Given the description of an element on the screen output the (x, y) to click on. 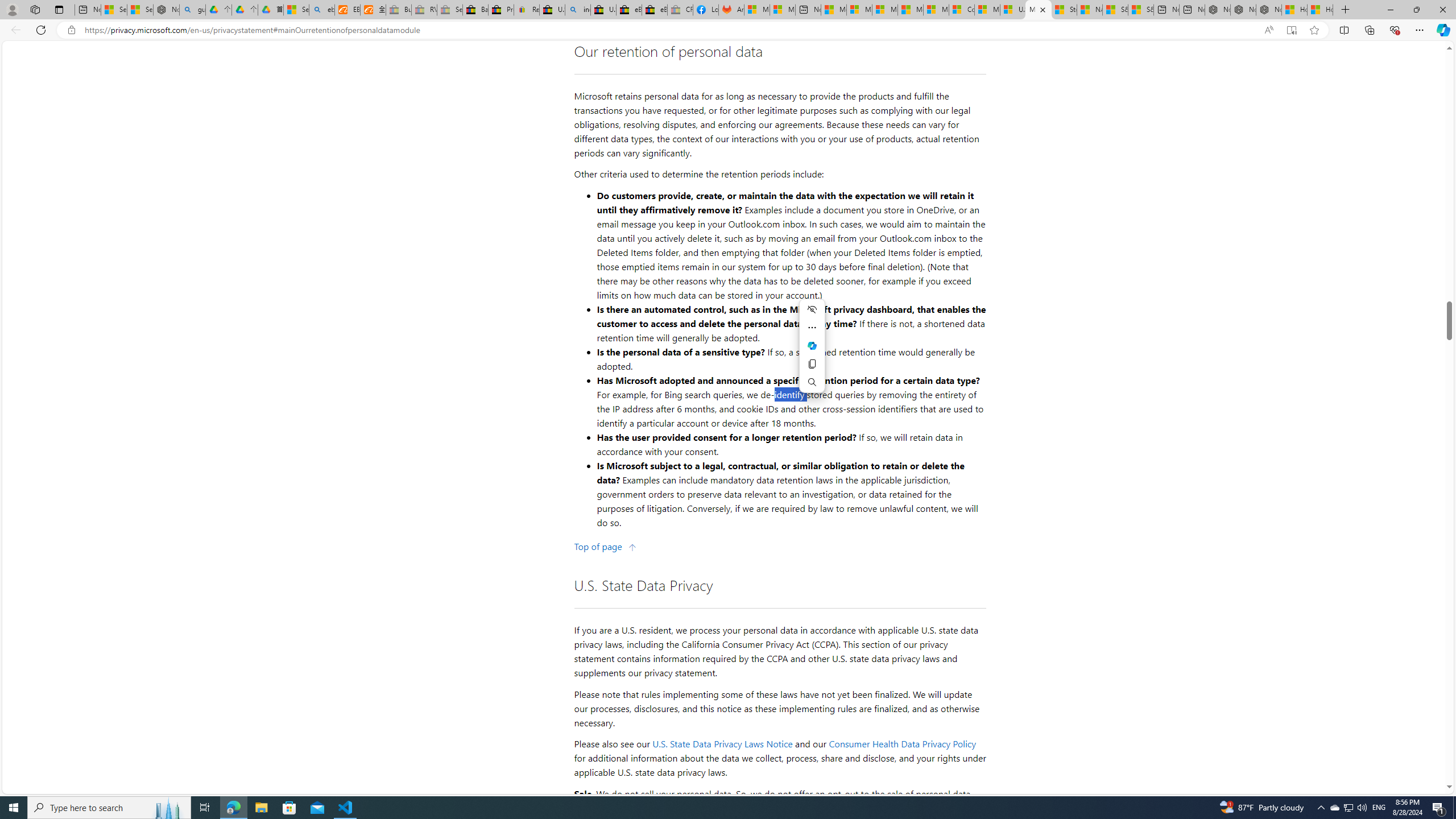
How to Use a Monitor With Your Closed Laptop (1320, 9)
Consumer Health Data Privacy Policy (901, 743)
including - Search (577, 9)
Baby Keepsakes & Announcements for sale | eBay (475, 9)
guge yunpan - Search (192, 9)
